Given the description of an element on the screen output the (x, y) to click on. 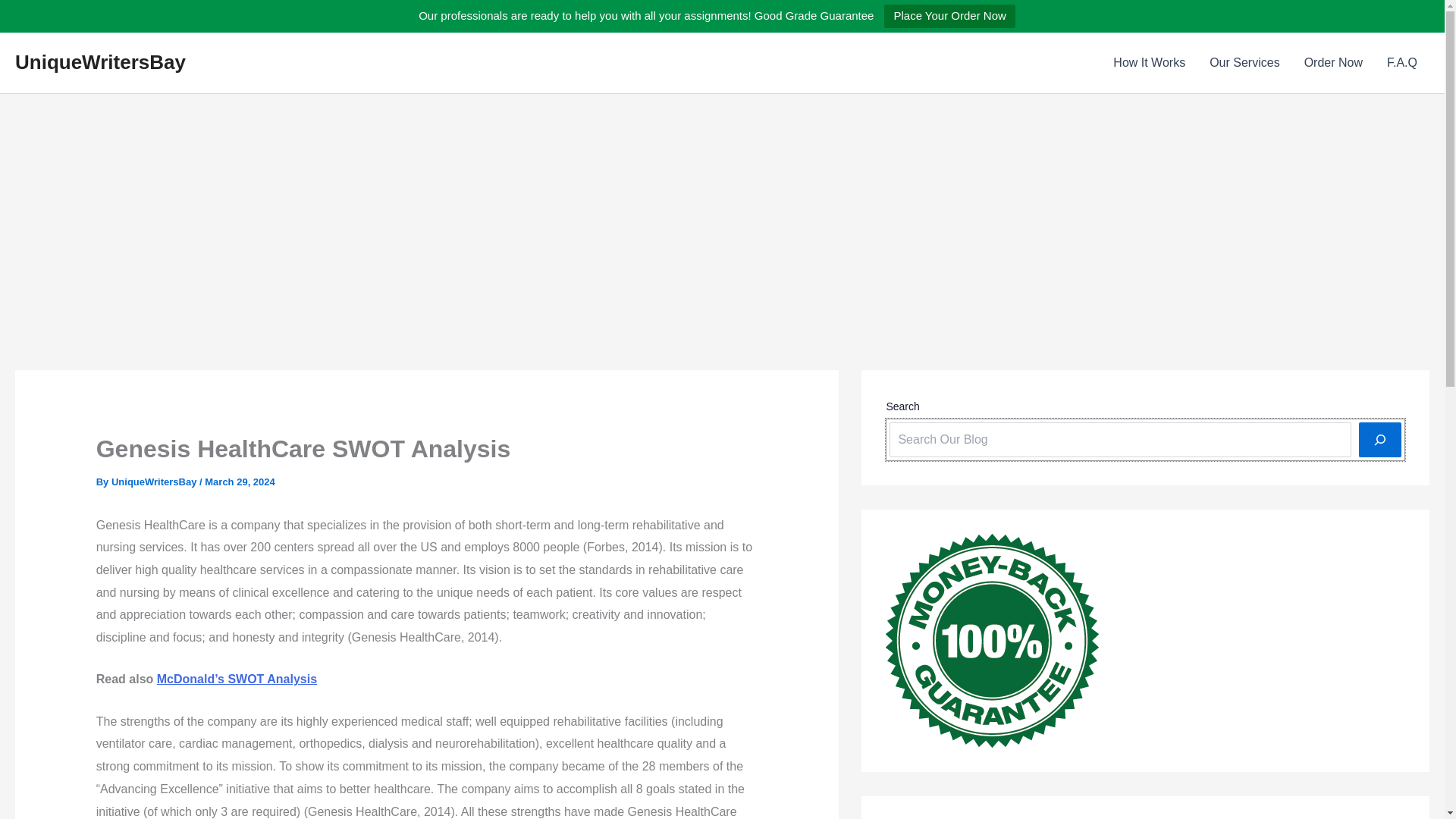
UniqueWritersBay (100, 61)
How It Works (1148, 62)
UniqueWritersBay (155, 481)
Our Services (1243, 62)
F.A.Q (1401, 62)
View all posts by UniqueWritersBay (155, 481)
Place Your Order Now (948, 15)
Order Now (1333, 62)
